Given the description of an element on the screen output the (x, y) to click on. 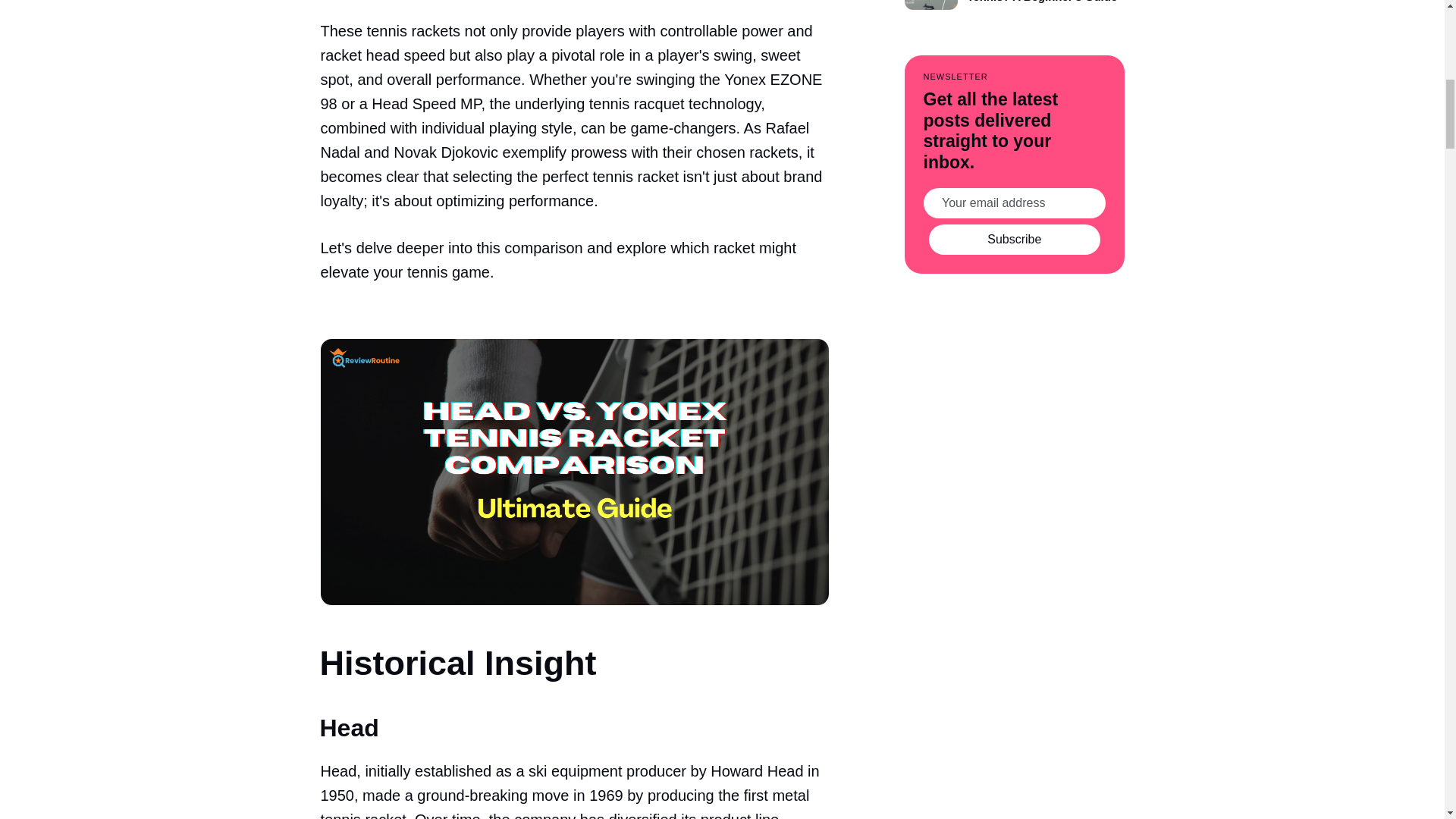
What is a Smash Shot in Tennis? A Beginner's Guide (1014, 5)
Subscribe (1014, 239)
